Given the description of an element on the screen output the (x, y) to click on. 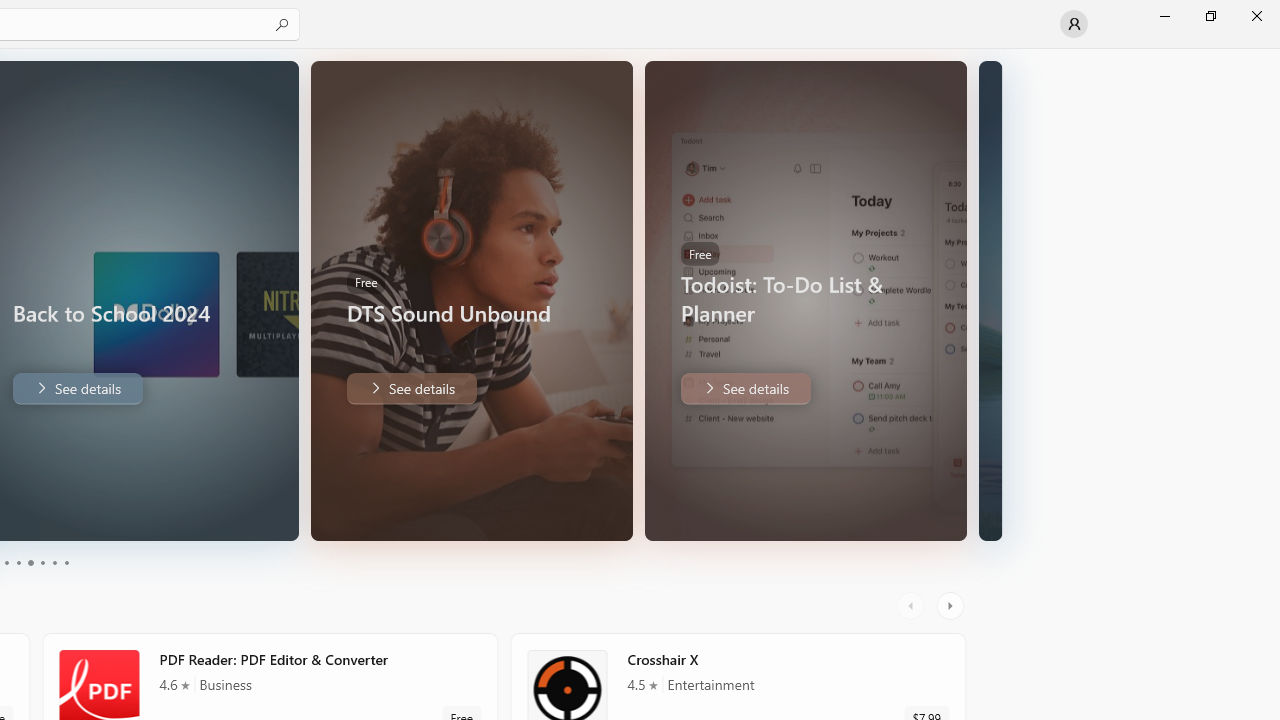
AutomationID: Image (989, 300)
